Given the description of an element on the screen output the (x, y) to click on. 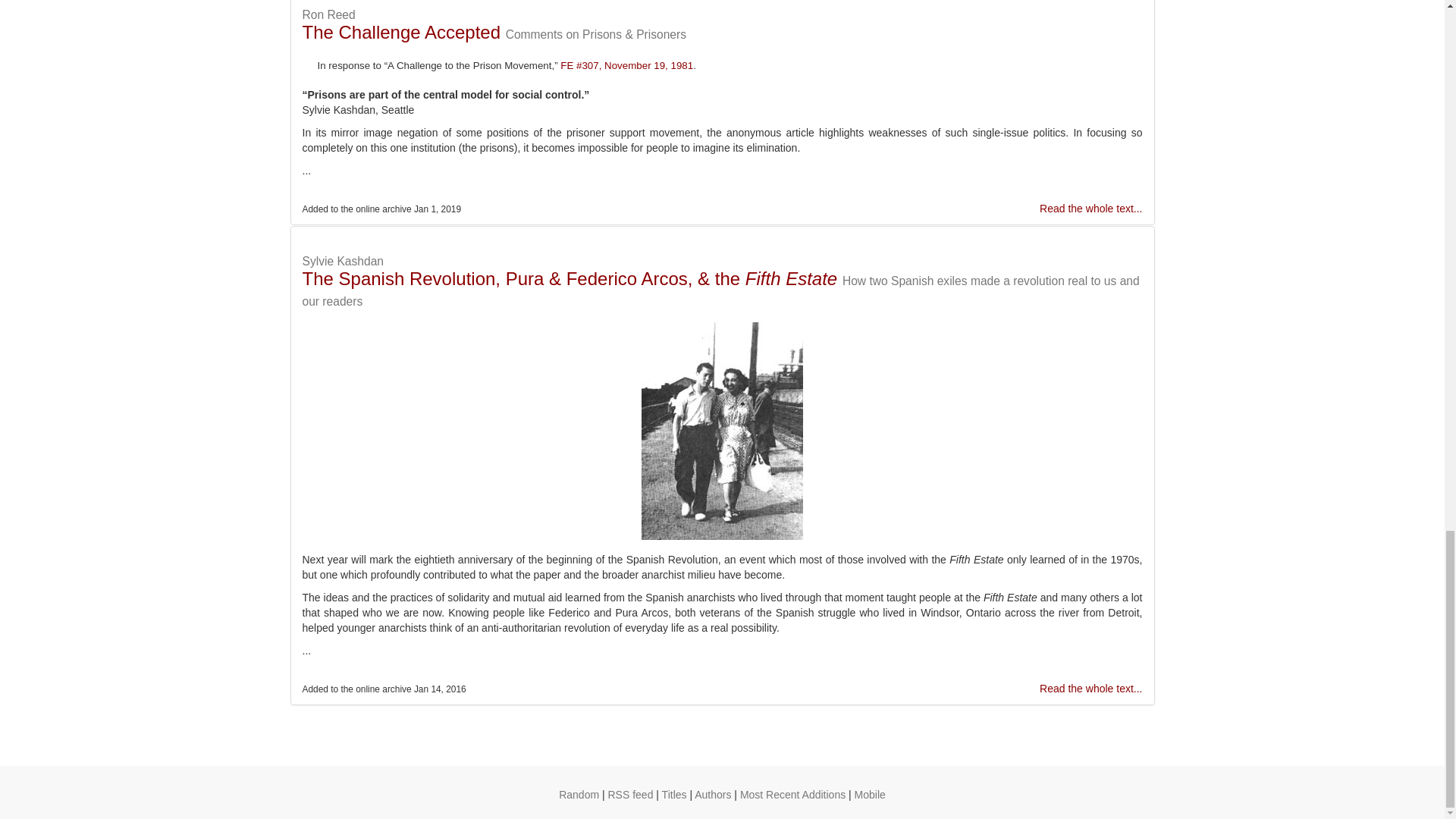
Random (578, 794)
The Challenge Accepted (400, 32)
Titles (674, 794)
texts sorted by title (674, 794)
Read the whole text... (1090, 688)
Read the whole text... (1090, 208)
Authors (712, 794)
Authors (712, 794)
RSS feed (630, 794)
Mobile (869, 794)
Random (578, 794)
Most Recent Additions (792, 794)
